Given the description of an element on the screen output the (x, y) to click on. 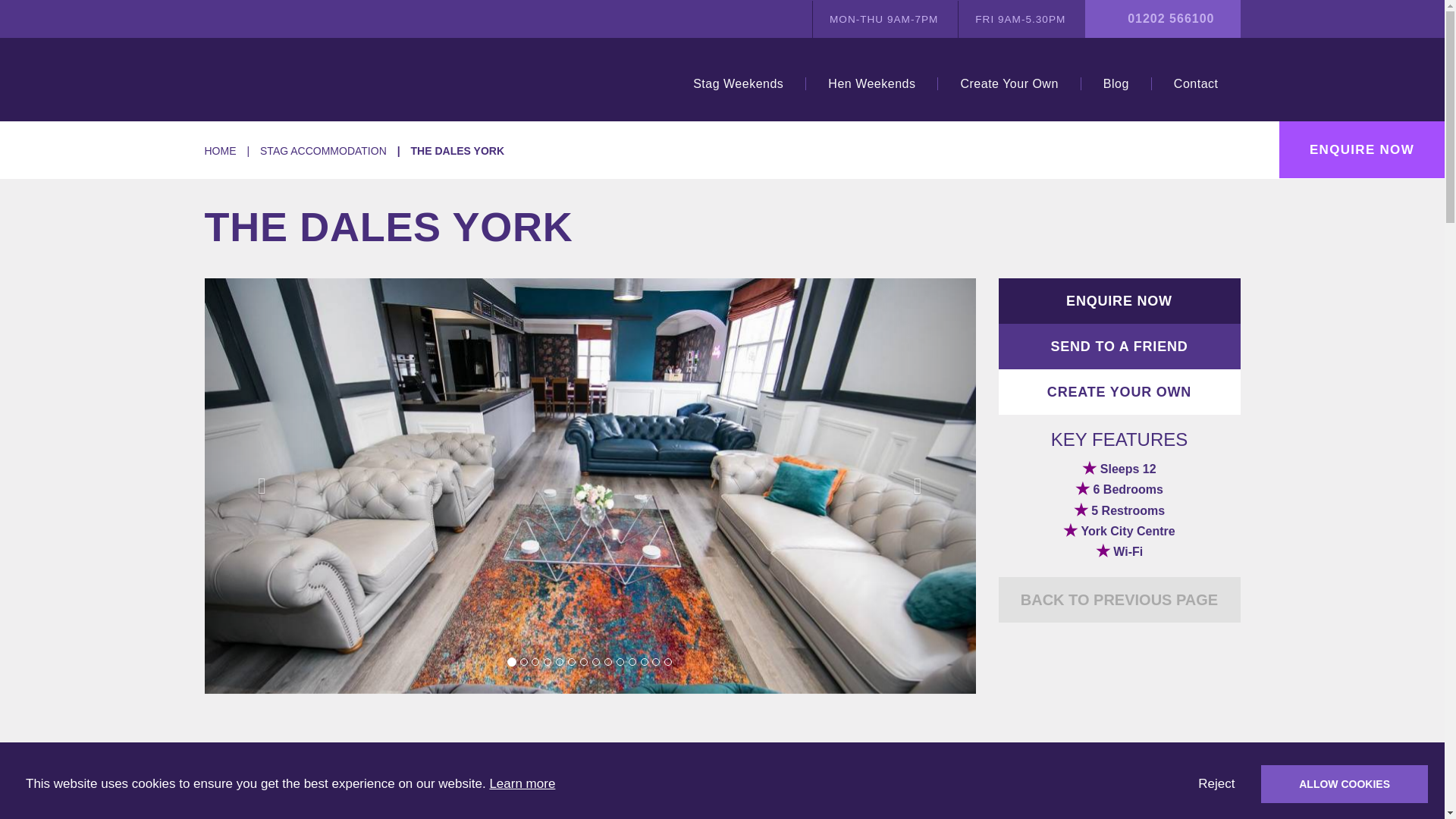
The Stag and Hen Experience (299, 79)
Hen Weekends (871, 83)
01202 566100 (1170, 18)
Stag Weekends (738, 83)
